Given the description of an element on the screen output the (x, y) to click on. 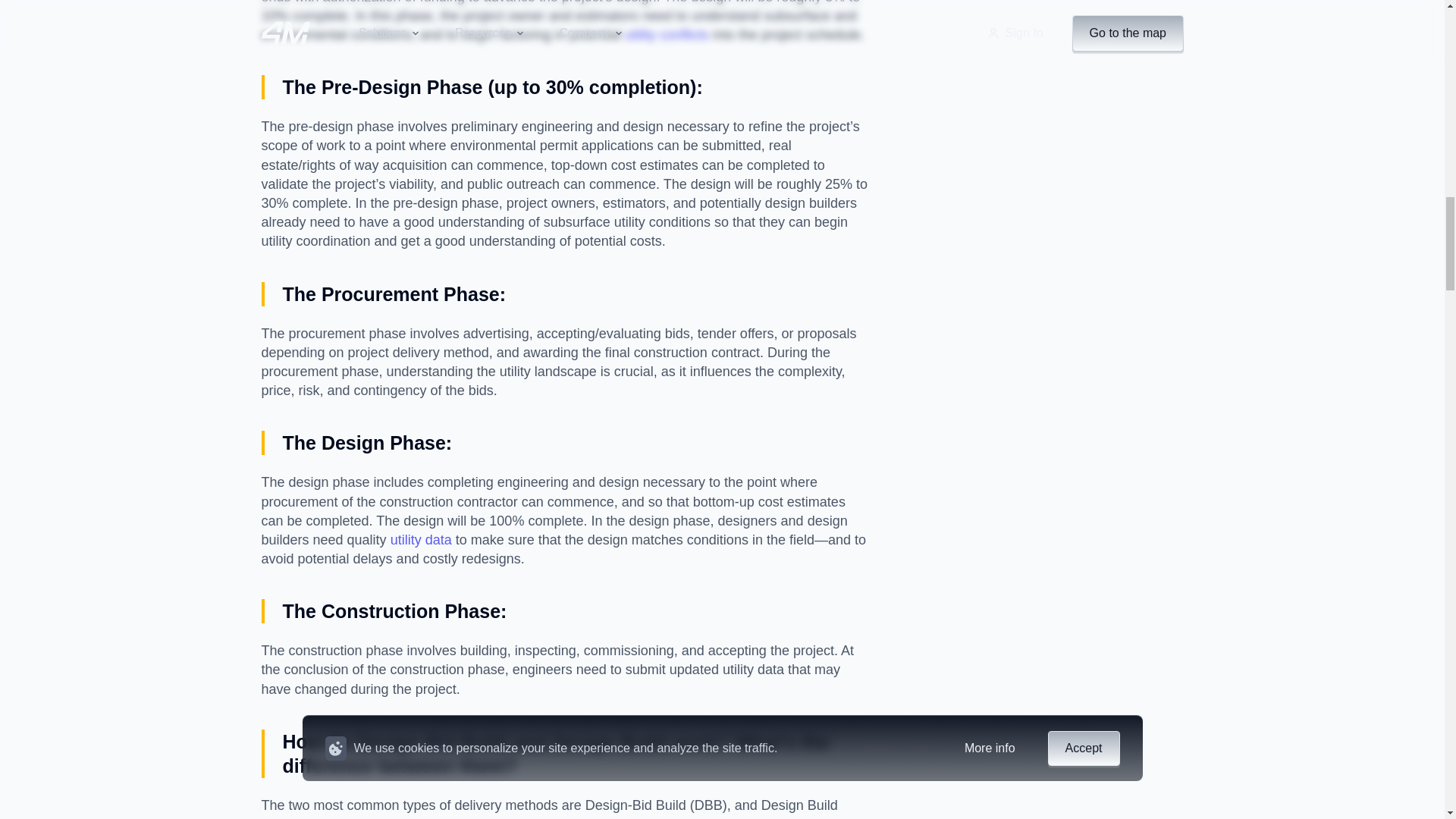
utility data (420, 539)
utility conflicts (666, 34)
